Given the description of an element on the screen output the (x, y) to click on. 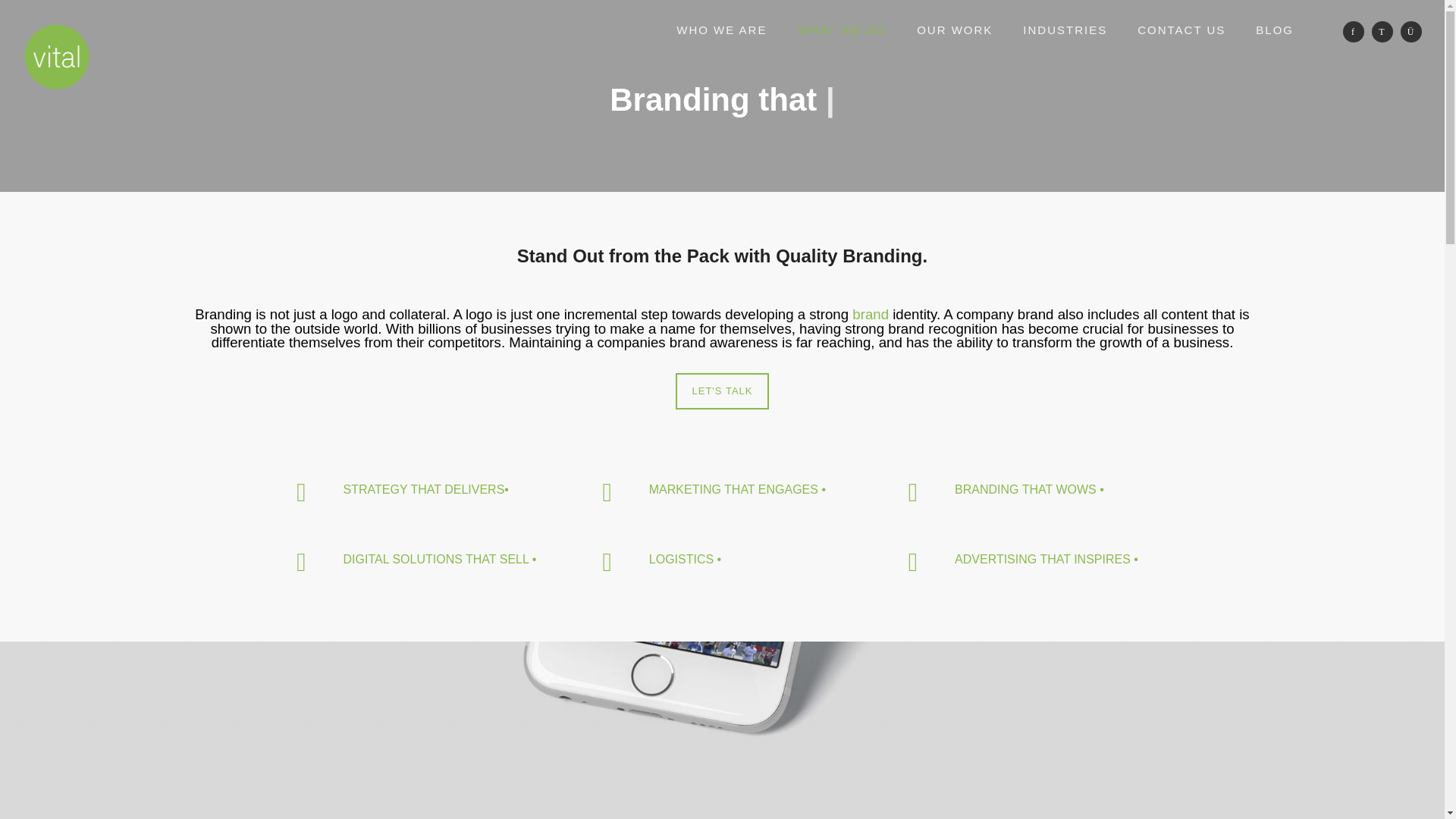
WHAT WE DO (841, 29)
OUR WORK (954, 29)
What We Do (841, 29)
WHO WE ARE (721, 29)
CONTACT US (1181, 29)
BLOG (1274, 29)
Who We Are (721, 29)
INDUSTRIES (1064, 29)
